Given the description of an element on the screen output the (x, y) to click on. 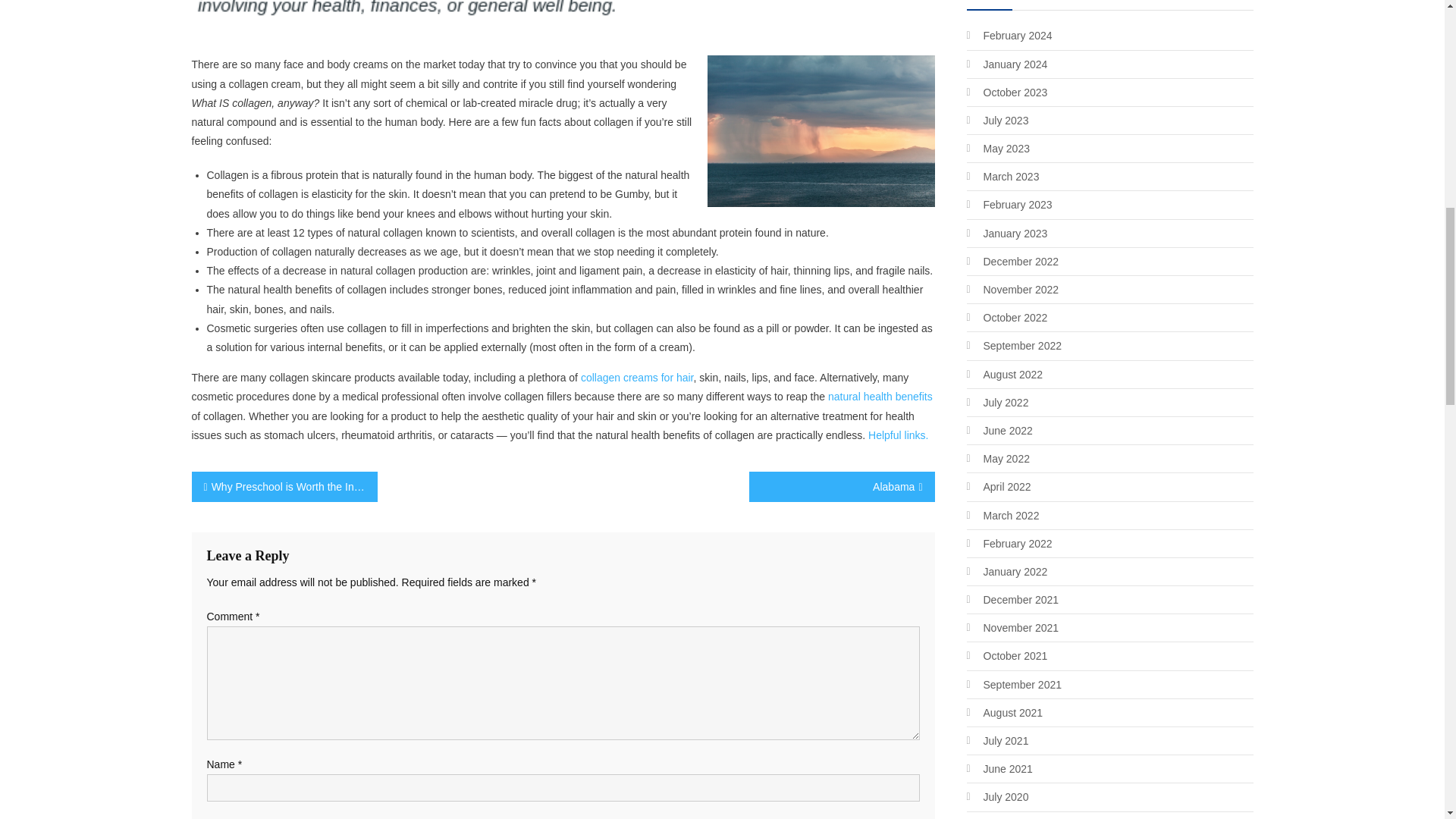
natural health benefits (880, 396)
March 2023 (1002, 176)
February 2023 (1008, 204)
Helpful links. (897, 435)
January 2024 (1006, 64)
December 2022 (1012, 261)
May 2023 (997, 148)
Alabama (841, 486)
January 2023 (1006, 233)
Why Preschool is Worth the Investment (283, 486)
July 2023 (996, 120)
For more on Collagen cream (880, 396)
collagen creams for hair (637, 377)
February 2024 (1008, 35)
Link here (637, 377)
